Given the description of an element on the screen output the (x, y) to click on. 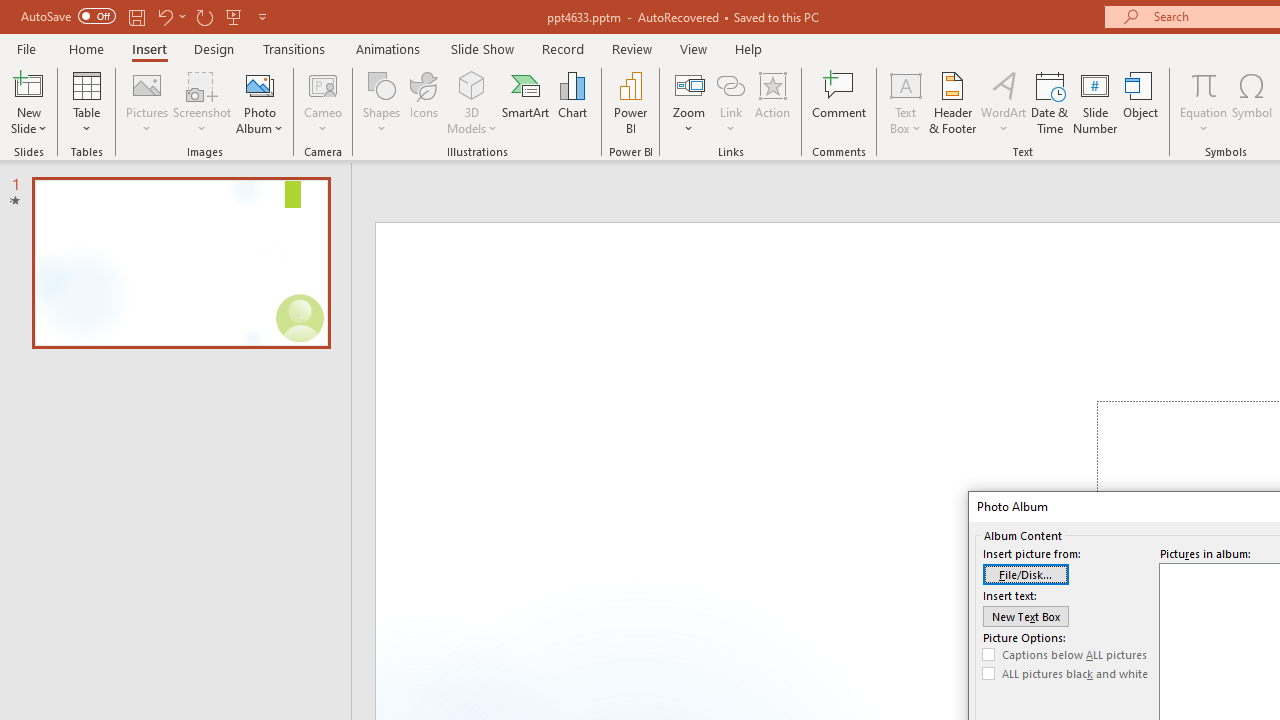
Slide Number (1095, 102)
Action (772, 102)
Photo Album... (259, 102)
Screenshot (202, 102)
New Photo Album... (259, 84)
Shapes (381, 102)
